Given the description of an element on the screen output the (x, y) to click on. 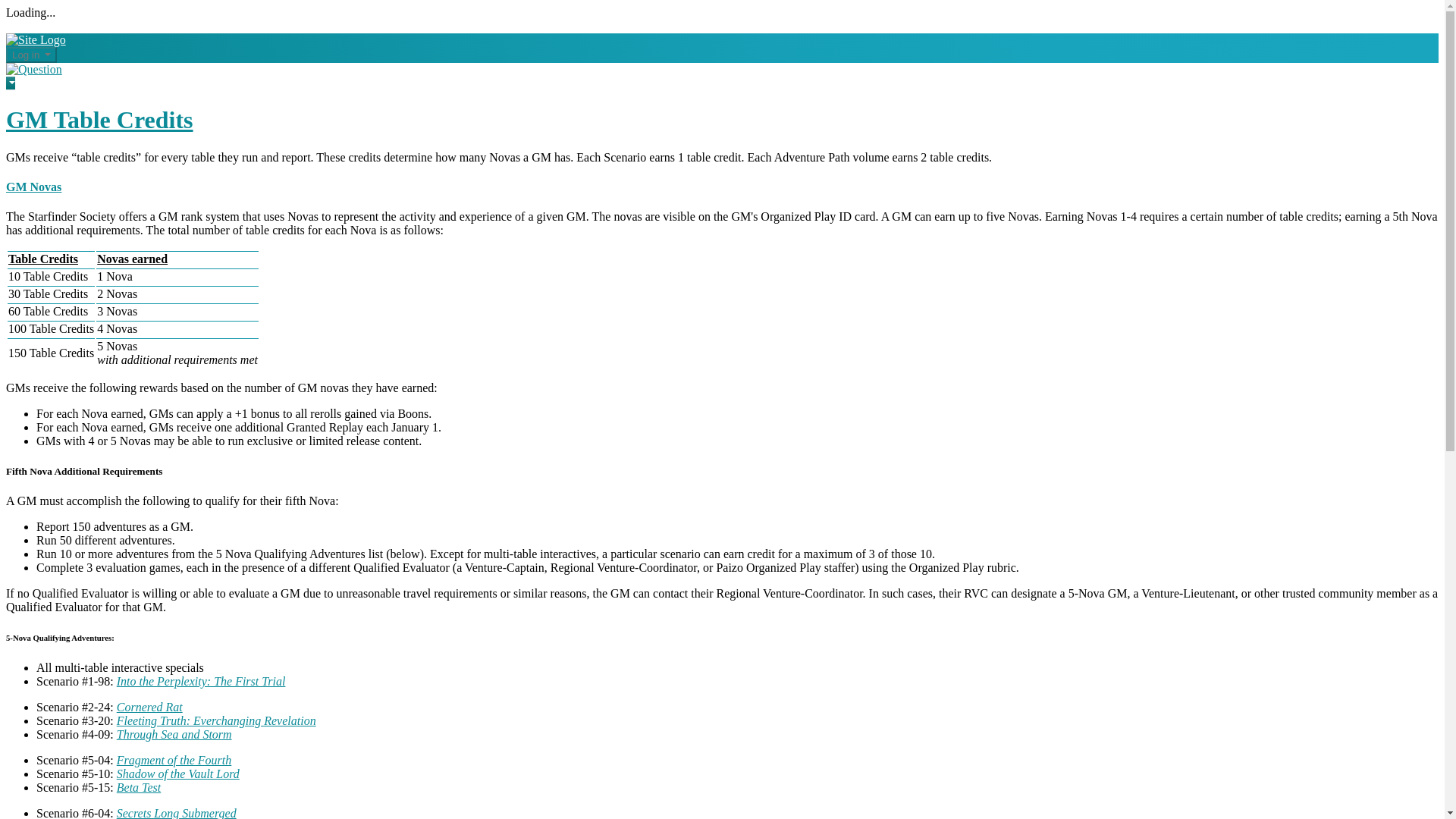
Fleeting Truth: Everchanging Revelation (215, 720)
GM Table Credits (99, 119)
Lorespire Home (35, 39)
Into the Perplexity: The First Trial (200, 680)
refresh (99, 119)
Fragment of the Fourth (173, 759)
Through Sea and Storm (173, 734)
Shadow of the Vault Lord (178, 773)
GM Novas (33, 186)
Toggle right modules (33, 69)
Page actions (9, 82)
Cornered Rat (149, 707)
Secrets Long Submerged (175, 812)
Beta Test (138, 787)
Log in (30, 54)
